Given the description of an element on the screen output the (x, y) to click on. 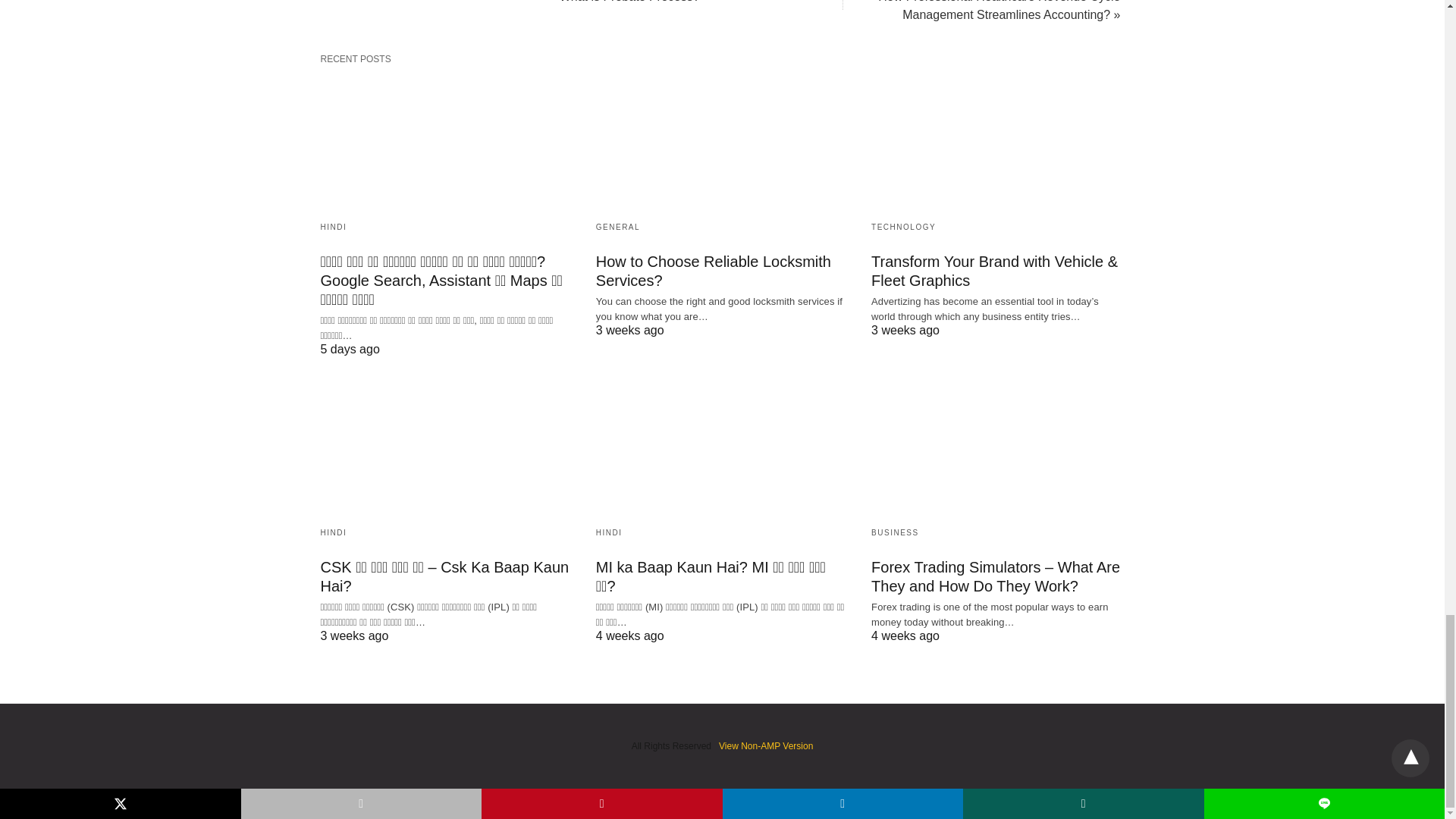
HINDI (333, 226)
How to Choose Reliable Locksmith Services? (721, 140)
GENERAL (617, 226)
HINDI (333, 532)
HINDI (609, 532)
View Non-AMP Version (765, 746)
TECHNOLOGY (903, 226)
How to Choose Reliable Locksmith Services? (713, 271)
BUSINESS (894, 532)
